Given the description of an element on the screen output the (x, y) to click on. 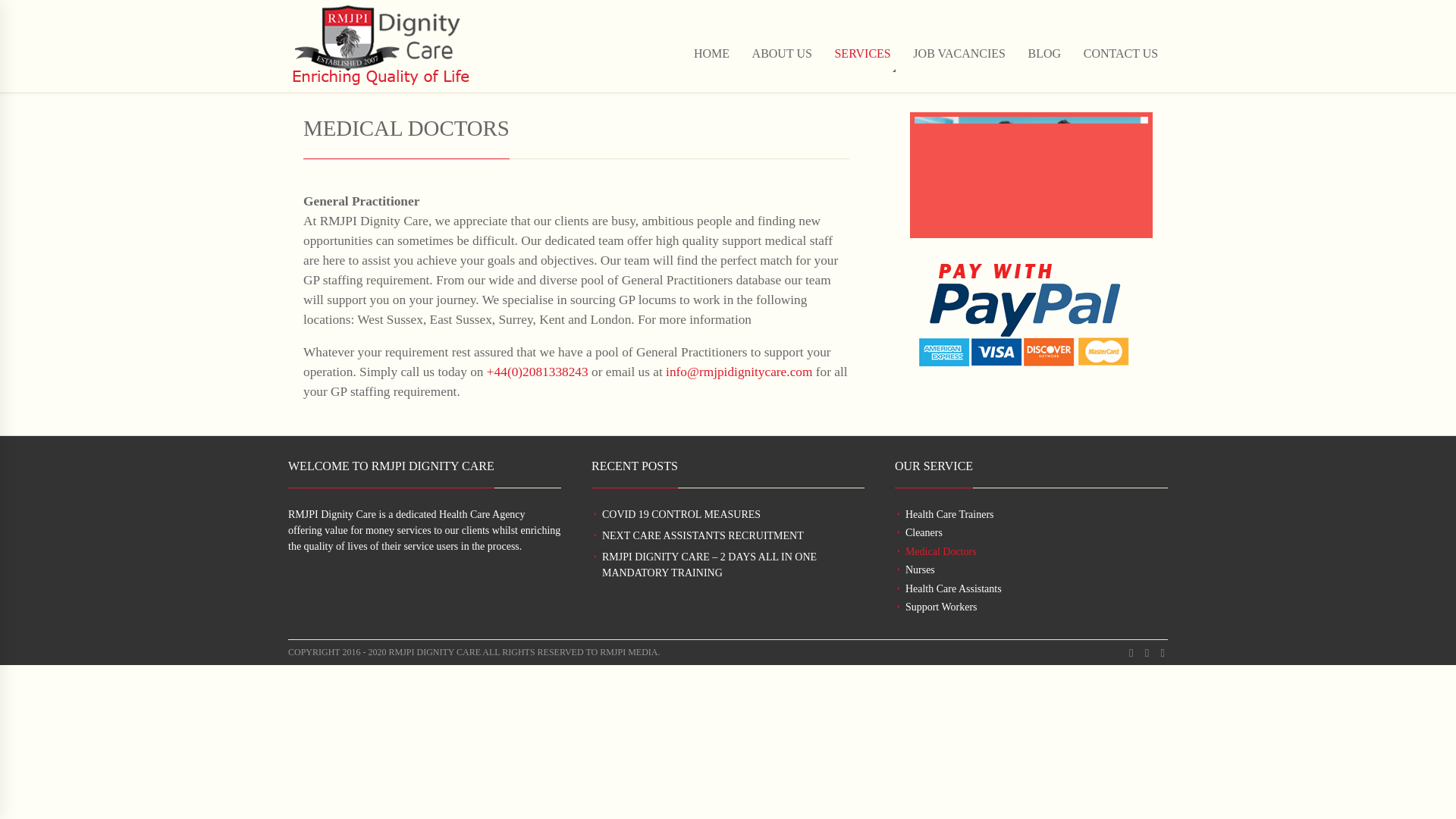
HOME (711, 68)
Support Workers (940, 606)
SERVICES (863, 68)
Nurses (919, 569)
CONTACT US (1120, 68)
Health Care Assistants (953, 588)
Cleaners (923, 532)
Health Care Trainers (949, 514)
NEXT CARE ASSISTANTS RECRUITMENT (702, 535)
COVID 19 CONTROL MEASURES (681, 514)
